Given the description of an element on the screen output the (x, y) to click on. 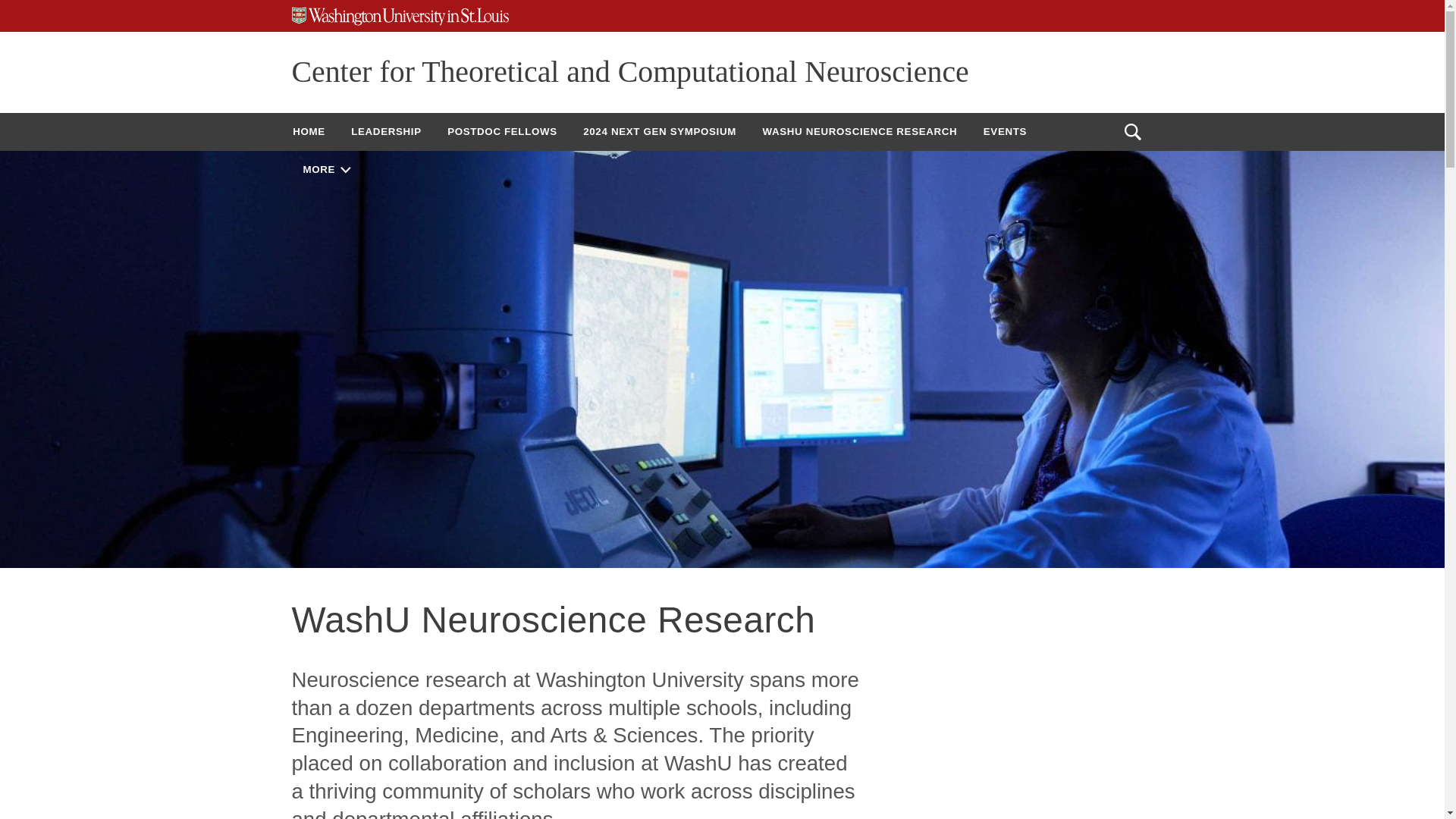
Center for Theoretical and Computational Neuroscience (629, 71)
LEADERSHIP (385, 131)
WASHU NEUROSCIENCE RESEARCH (859, 131)
HOME (308, 131)
2024 NEXT GEN SYMPOSIUM (660, 131)
Open Search (1132, 132)
POSTDOC FELLOWS (502, 131)
EVENTS (1005, 131)
MORE (326, 169)
